Given the description of an element on the screen output the (x, y) to click on. 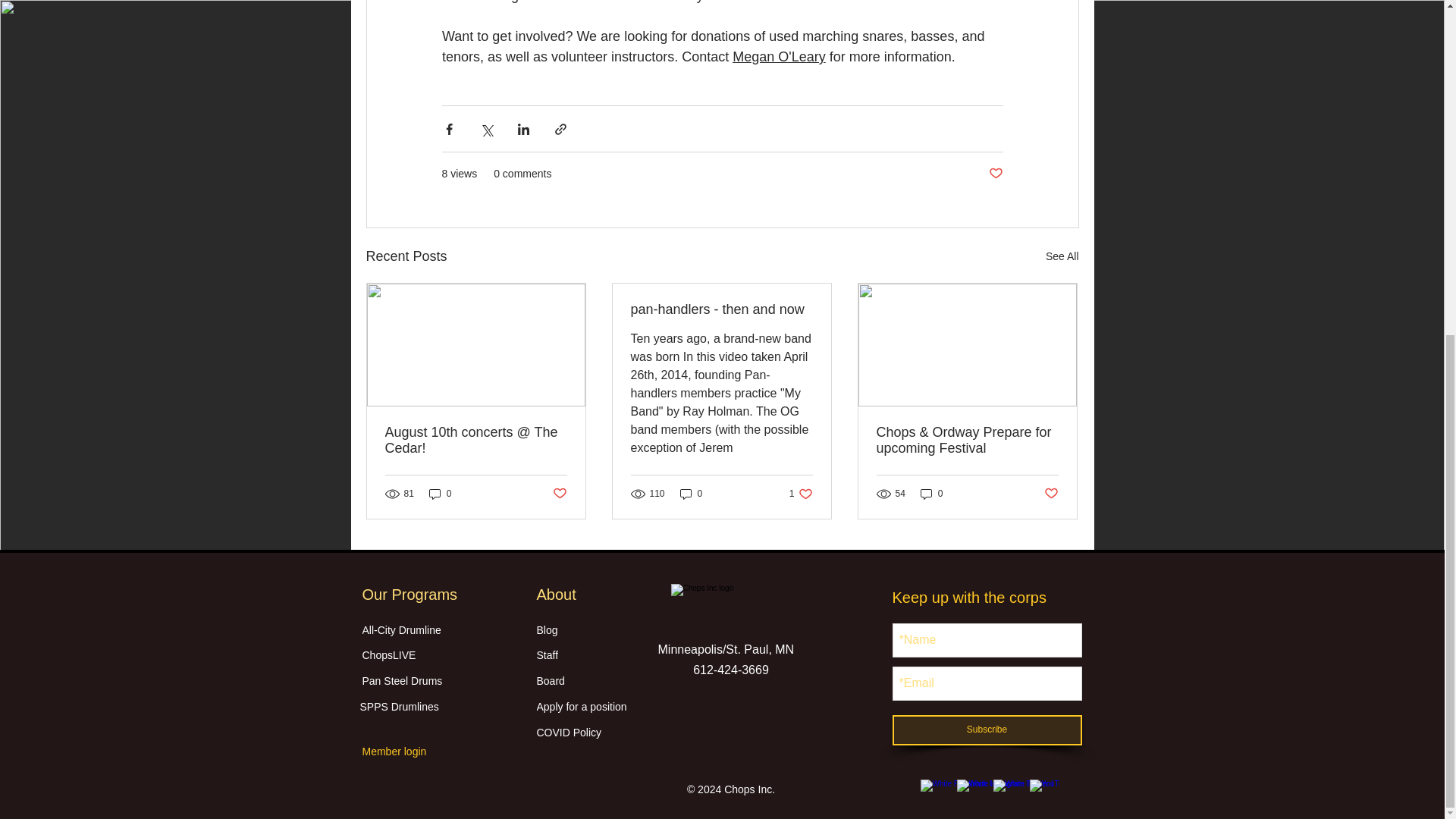
0 (440, 493)
Pan Steel Drums (440, 680)
ChopsLIVE (440, 654)
Post not marked as liked (800, 493)
pan-handlers - then and now (995, 173)
SPPS Drumlines (721, 309)
0 (437, 705)
0 (931, 493)
Post not marked as liked (691, 493)
See All (1050, 494)
Post not marked as liked (1061, 256)
All-City Drumline (558, 494)
